Given the description of an element on the screen output the (x, y) to click on. 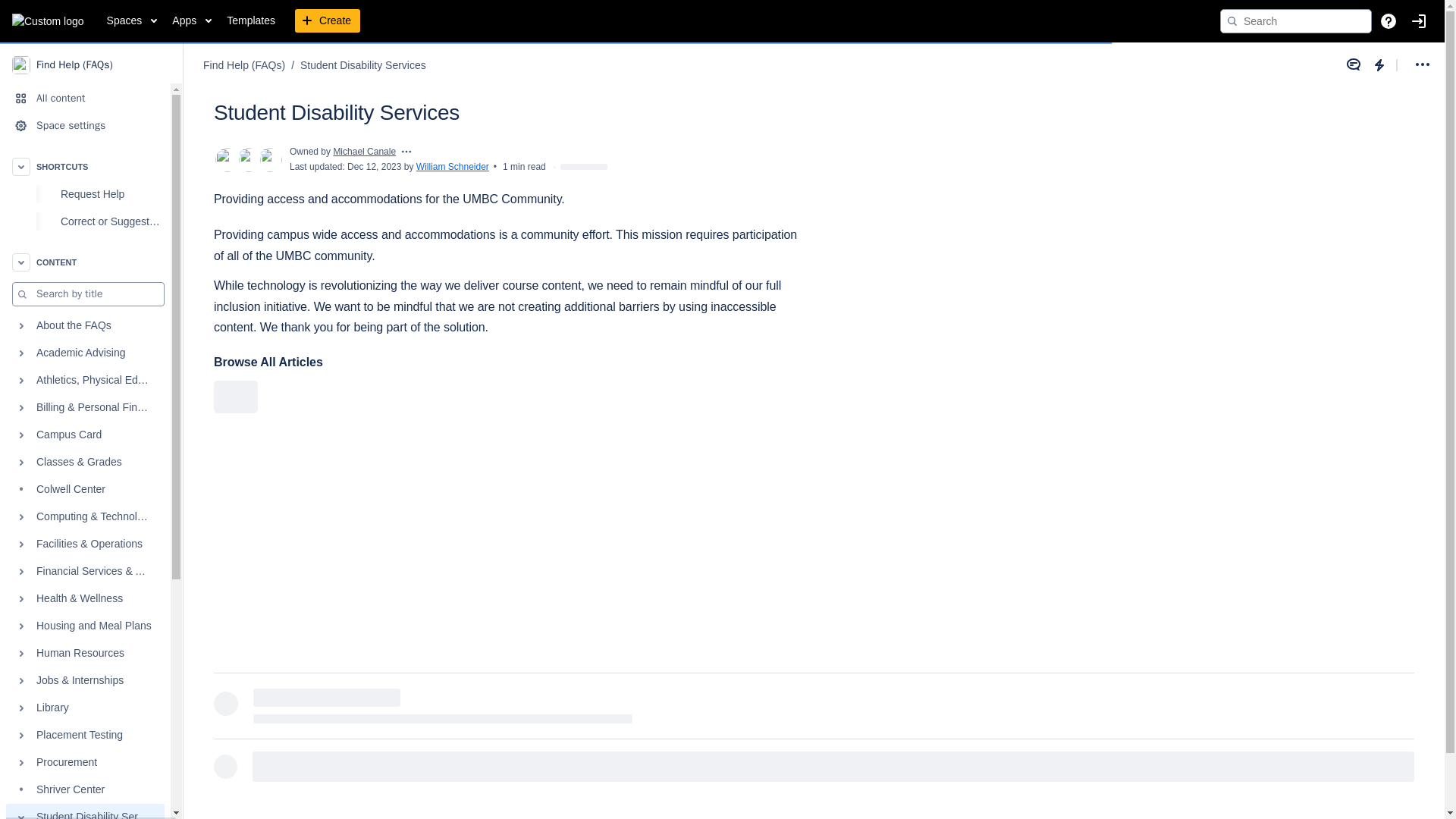
About the FAQs (84, 325)
Apps (191, 21)
Space settings (84, 125)
Housing and Meal Plans (84, 625)
Request Help (84, 194)
Campus Card (84, 434)
Correct or Suggest an Article (84, 221)
SHORTCUTS (84, 166)
Request Help (111, 193)
CONTENT (84, 262)
